Given the description of an element on the screen output the (x, y) to click on. 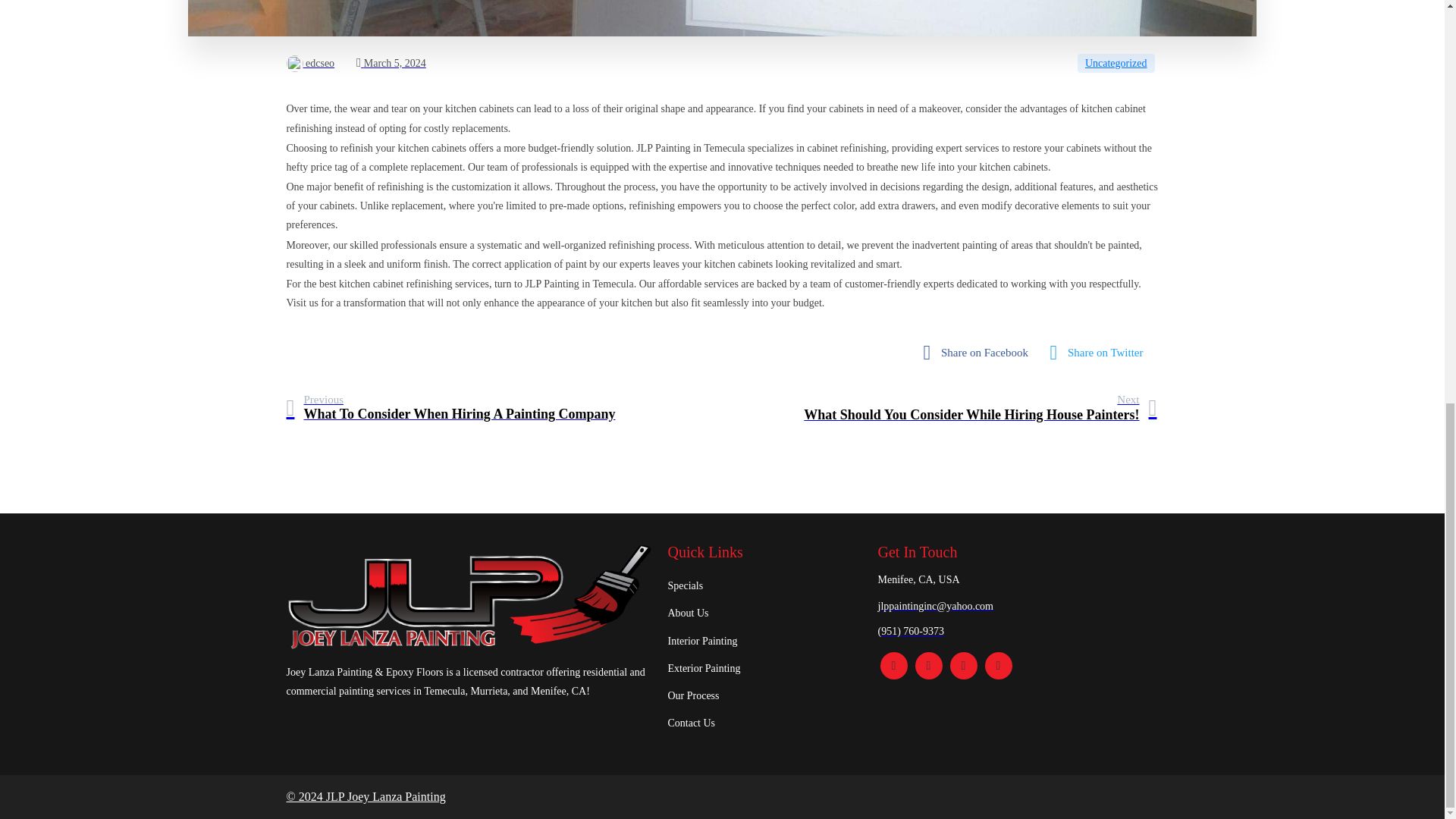
logo (469, 596)
2018051495150009 (721, 18)
About Us (763, 613)
March 5, 2024 (391, 62)
Specials (763, 585)
Contact Us (763, 723)
Interior Painting (763, 641)
fab fa-twitter-square (979, 407)
Share on Twitter (1100, 352)
